Given the description of an element on the screen output the (x, y) to click on. 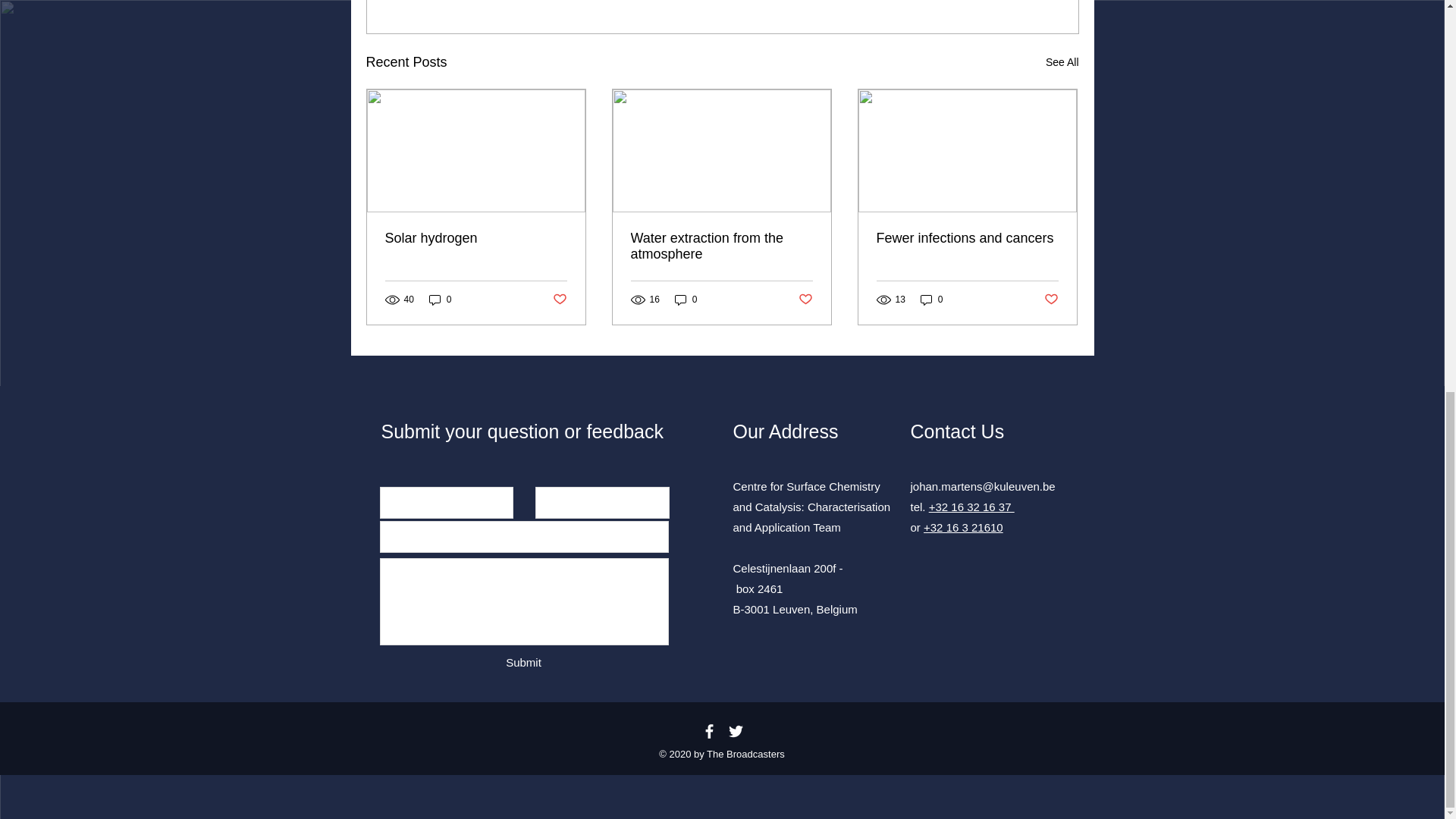
0 (931, 299)
Solar hydrogen (476, 238)
Post not marked as liked (1050, 299)
Fewer infections and cancers (967, 238)
Post not marked as liked (804, 299)
Submit (524, 662)
0 (440, 299)
0 (685, 299)
See All (1061, 62)
Post not marked as liked (558, 299)
